Given the description of an element on the screen output the (x, y) to click on. 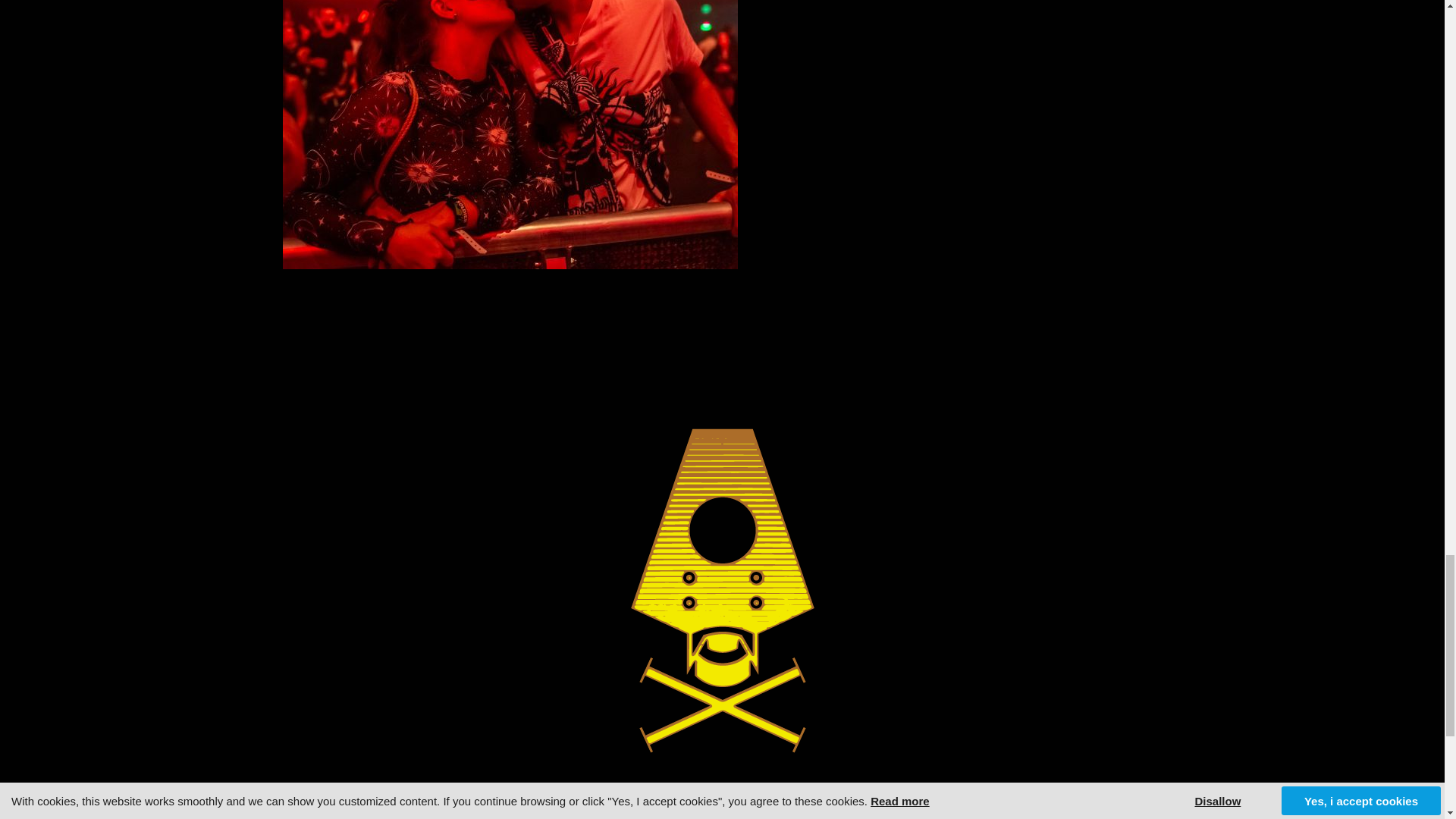
Adam 7 (509, 134)
